Given the description of an element on the screen output the (x, y) to click on. 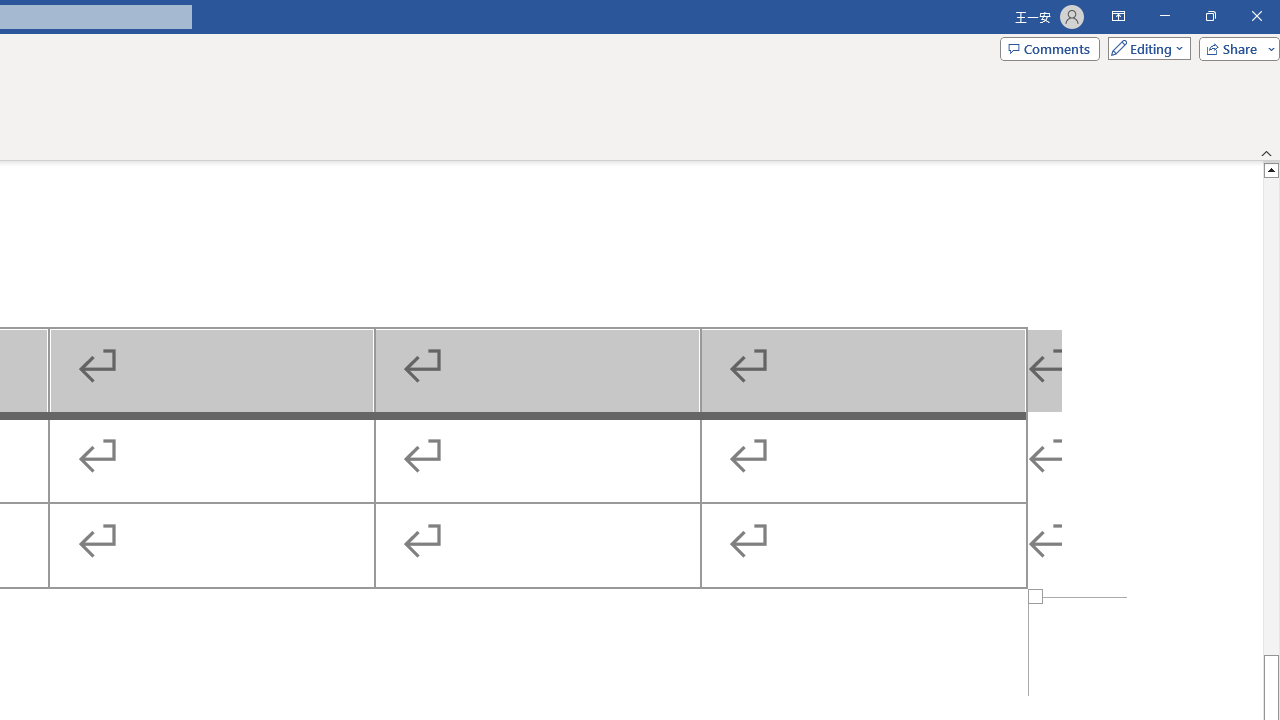
Page up (1271, 416)
Editing (1144, 47)
Line up (1271, 169)
